Given the description of an element on the screen output the (x, y) to click on. 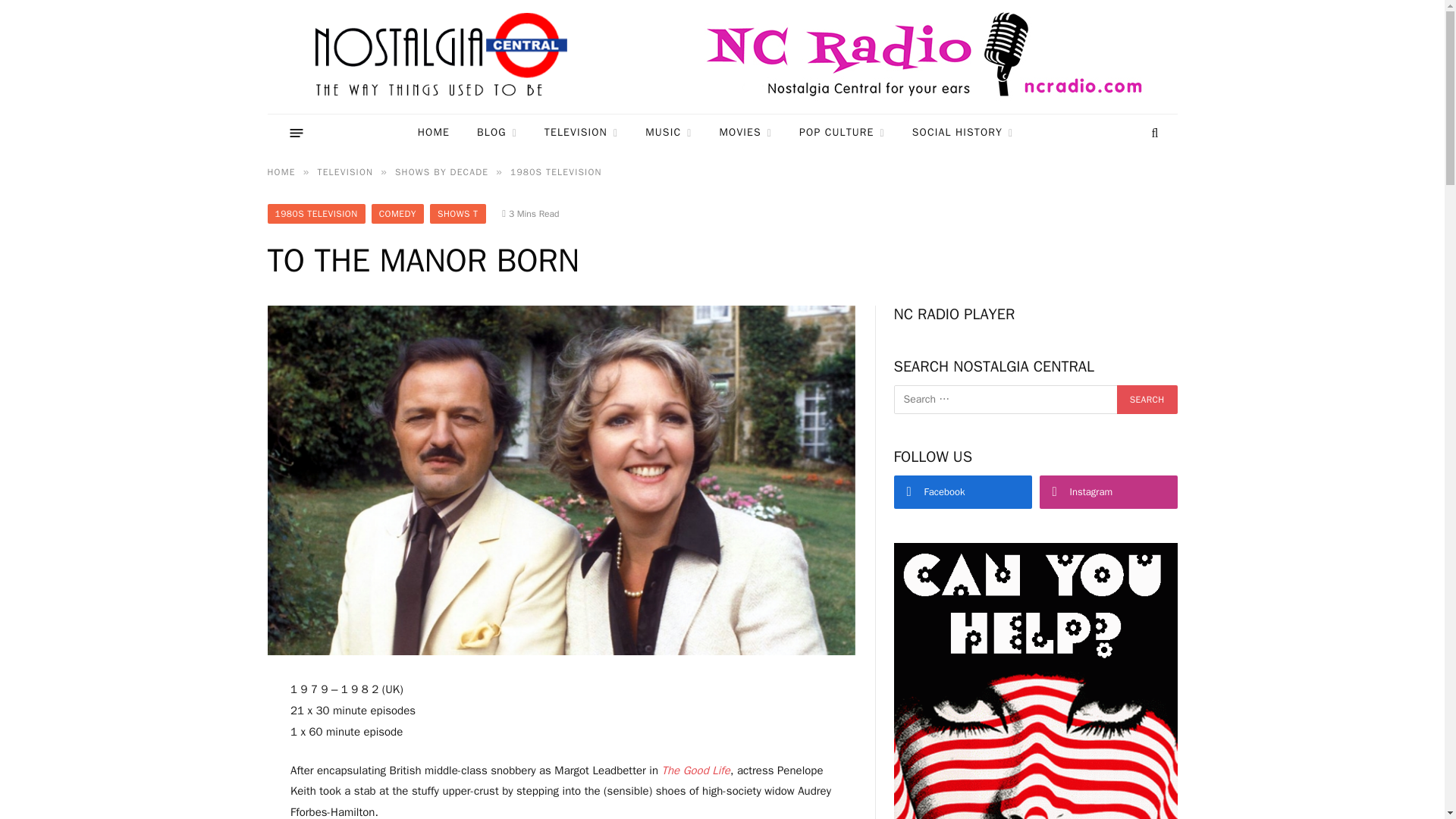
BLOG (497, 132)
Nostalgia Central (444, 56)
TELEVISION (581, 132)
HOME (433, 132)
Search (1146, 399)
Search (1146, 399)
